Given the description of an element on the screen output the (x, y) to click on. 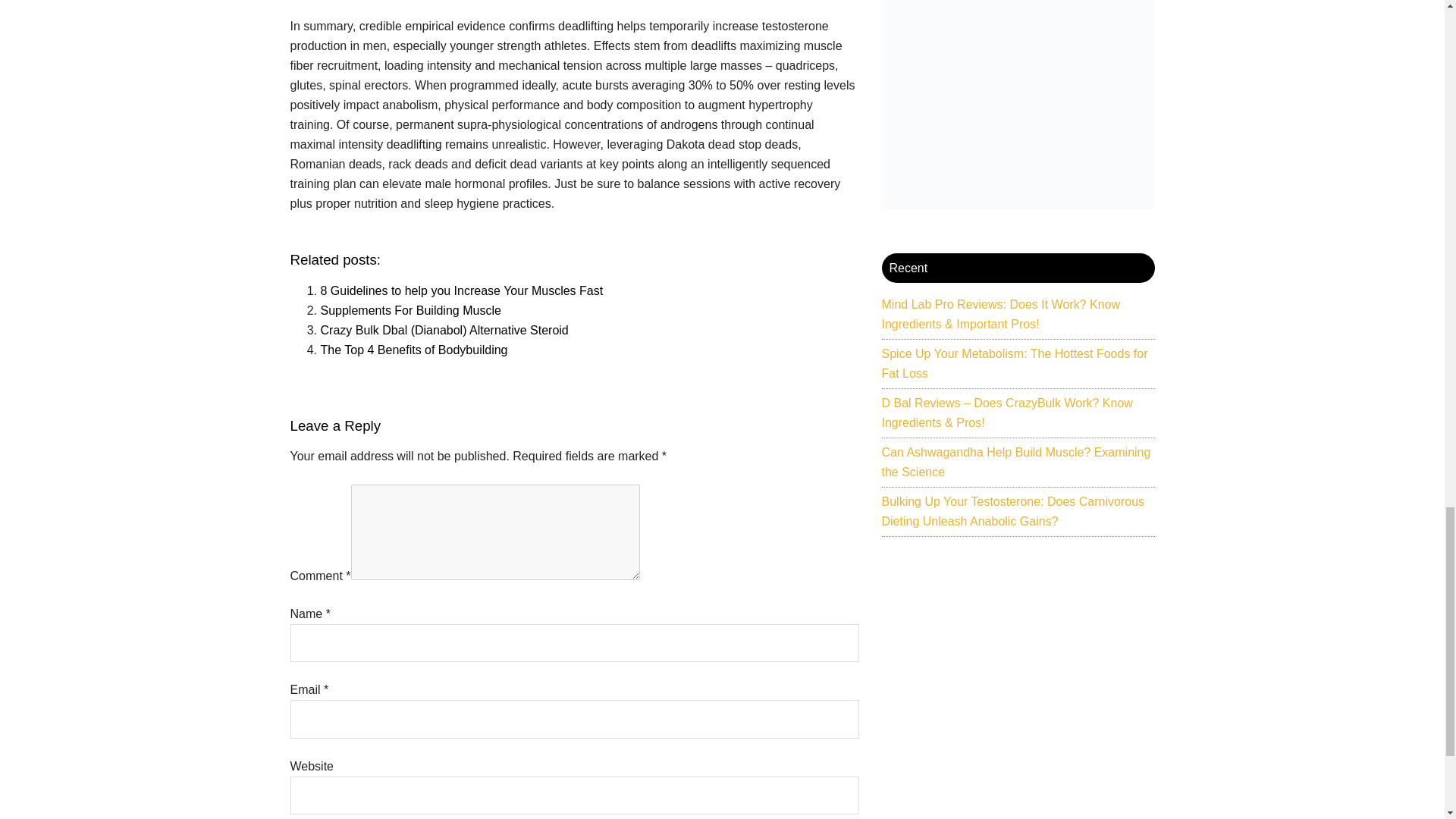
The Top 4 Benefits of Bodybuilding (413, 349)
The Top 4 Benefits of Bodybuilding (413, 349)
Supplements For Building Muscle (410, 309)
8 Guidelines to help you Increase Your Muscles Fast (461, 290)
Supplements For Building Muscle (410, 309)
8 Guidelines to help you Increase Your Muscles Fast (461, 290)
